Given the description of an element on the screen output the (x, y) to click on. 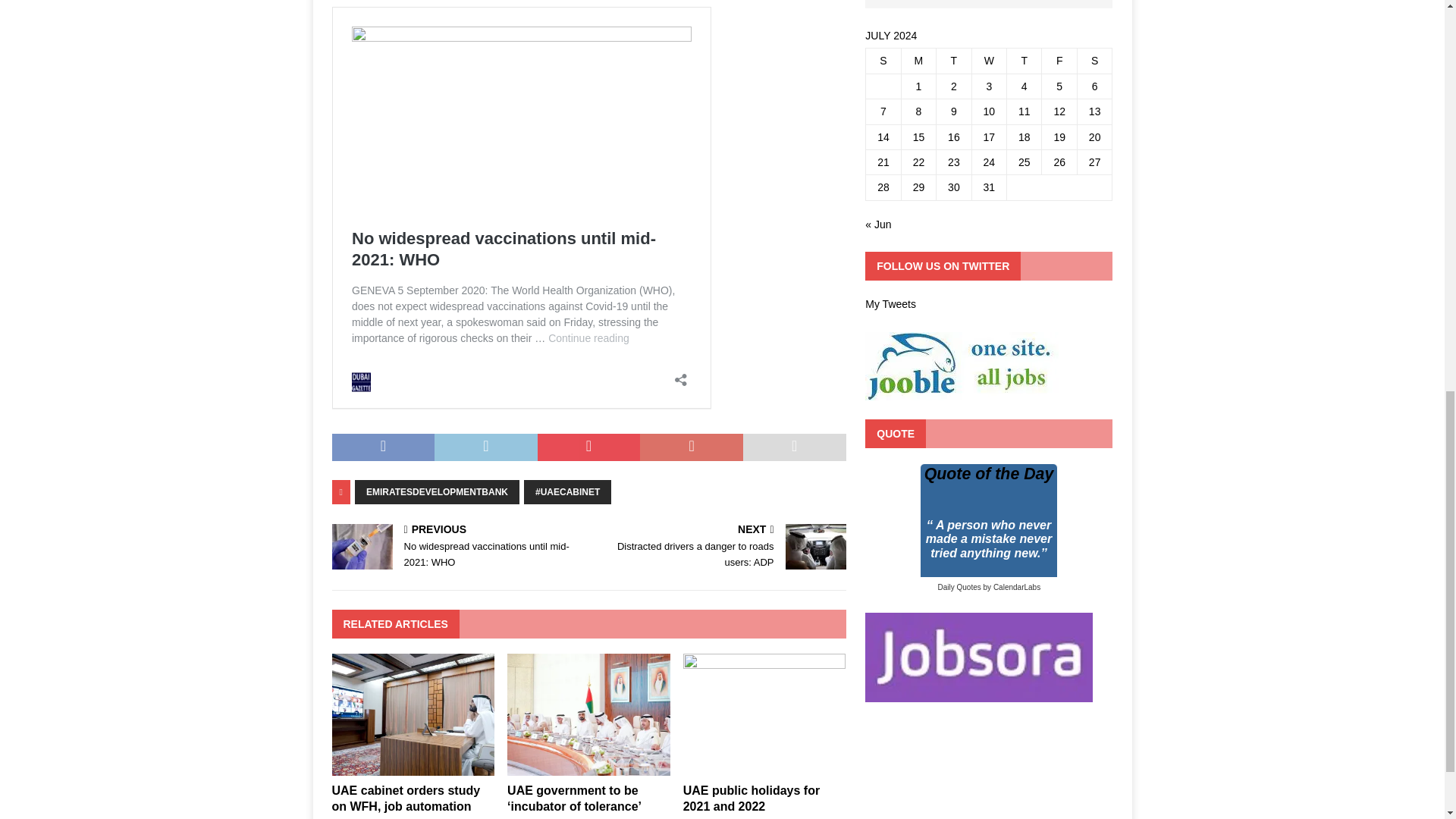
UAE public holidays for 2021 and 2022 (763, 767)
UAE cabinet orders study on WFH,  job automation (405, 798)
UAE cabinet orders study on WFH,  job automation (413, 767)
